Given the description of an element on the screen output the (x, y) to click on. 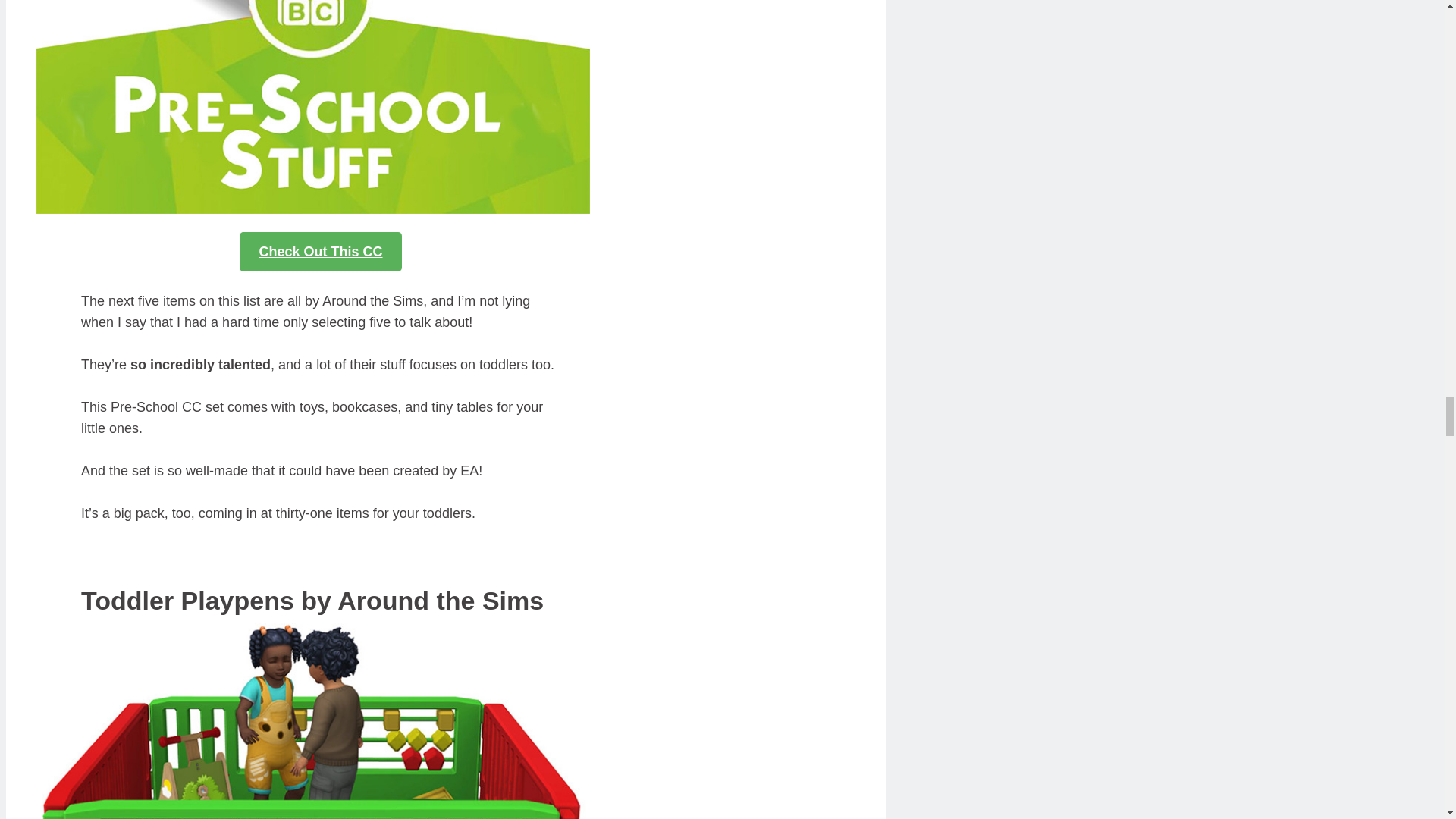
Check Out This CC (320, 251)
